Given the description of an element on the screen output the (x, y) to click on. 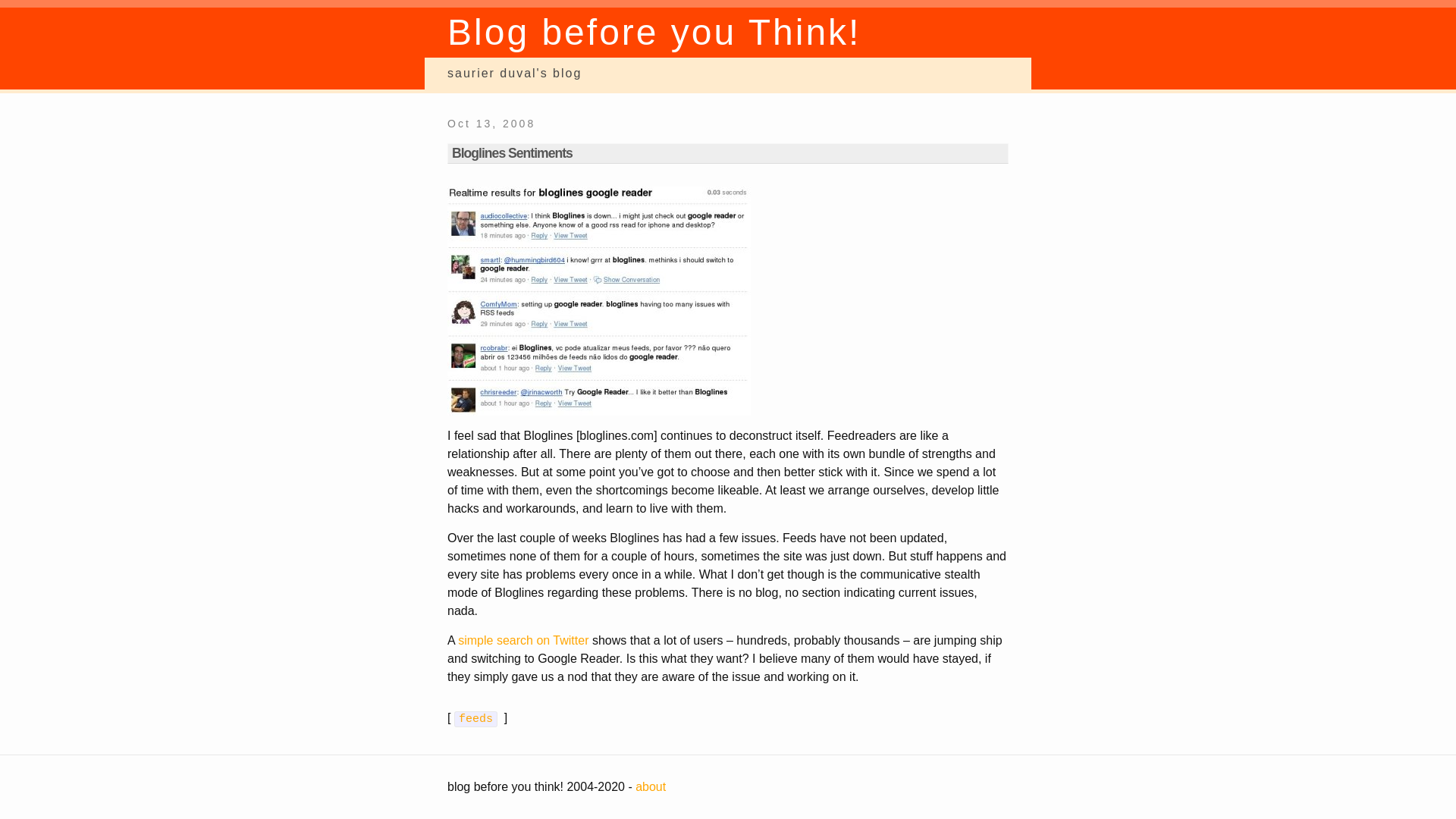
about (649, 786)
Blog before you Think! (653, 32)
simple search on Twitter (523, 640)
feeds  (477, 717)
